Given the description of an element on the screen output the (x, y) to click on. 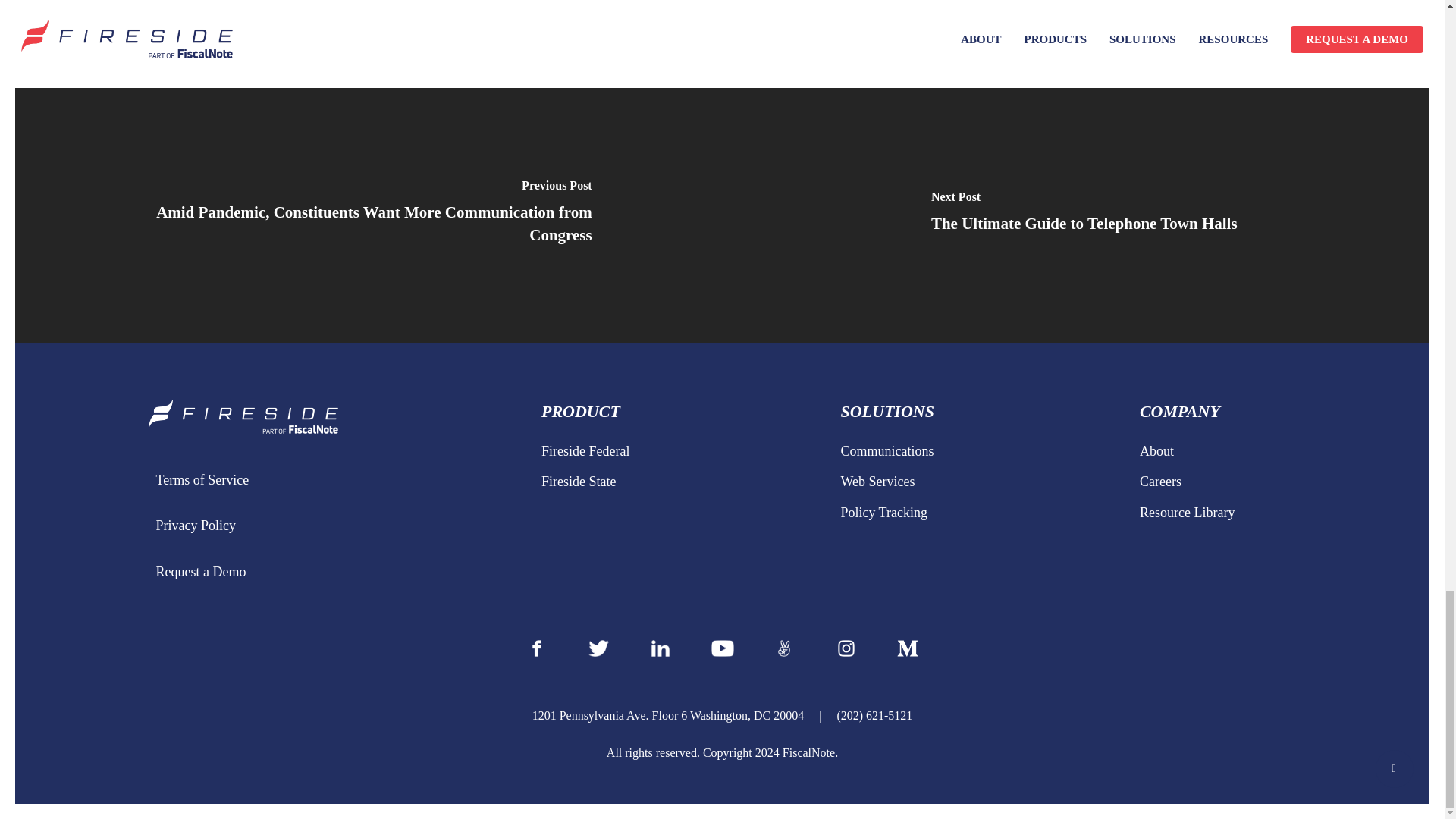
Privacy Policy (334, 525)
Request a Demo (334, 571)
Fireside Federal (676, 450)
Fireside State (676, 481)
Terms of Service (334, 479)
